Given the description of an element on the screen output the (x, y) to click on. 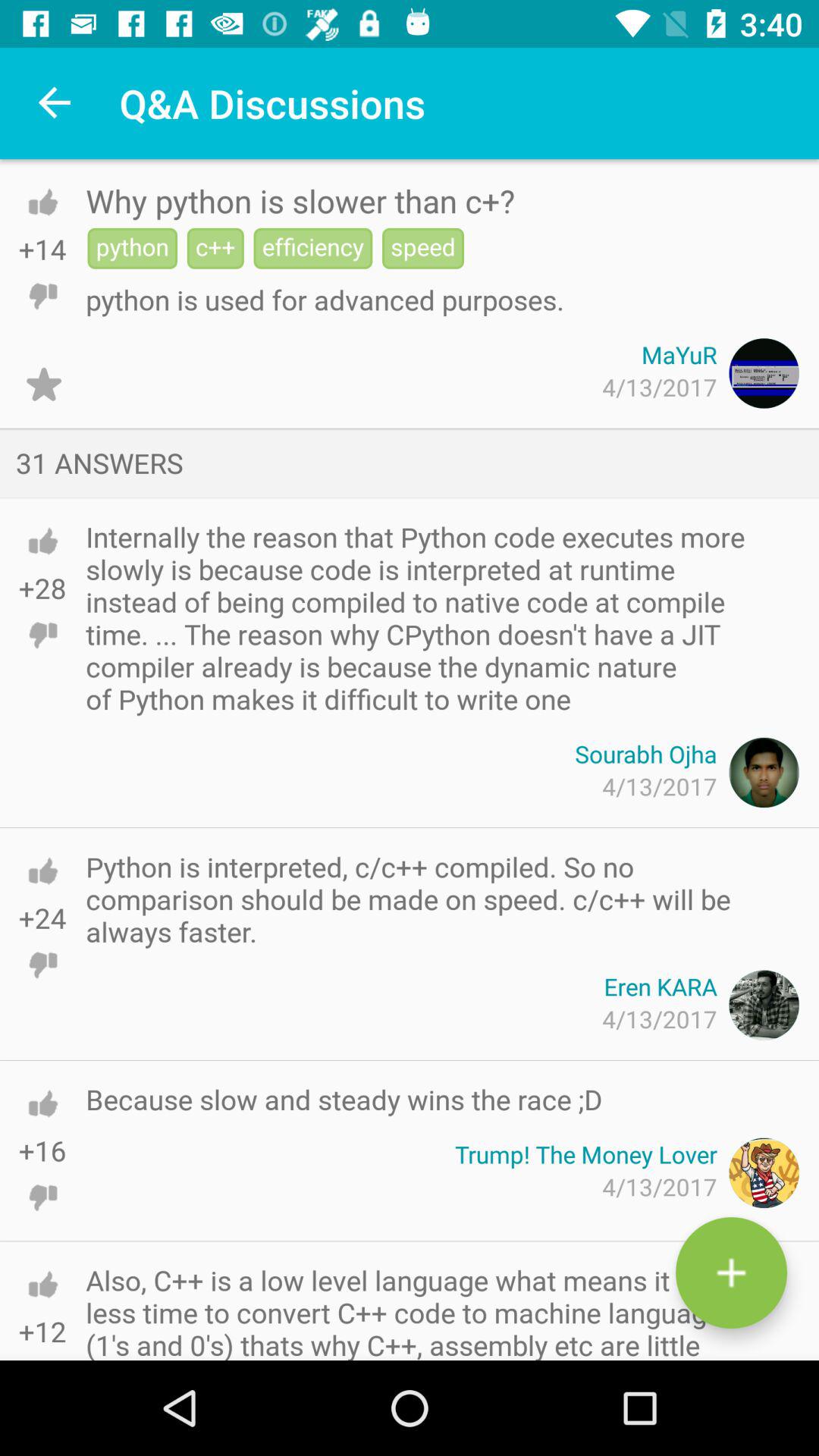
like the command (42, 1103)
